Given the description of an element on the screen output the (x, y) to click on. 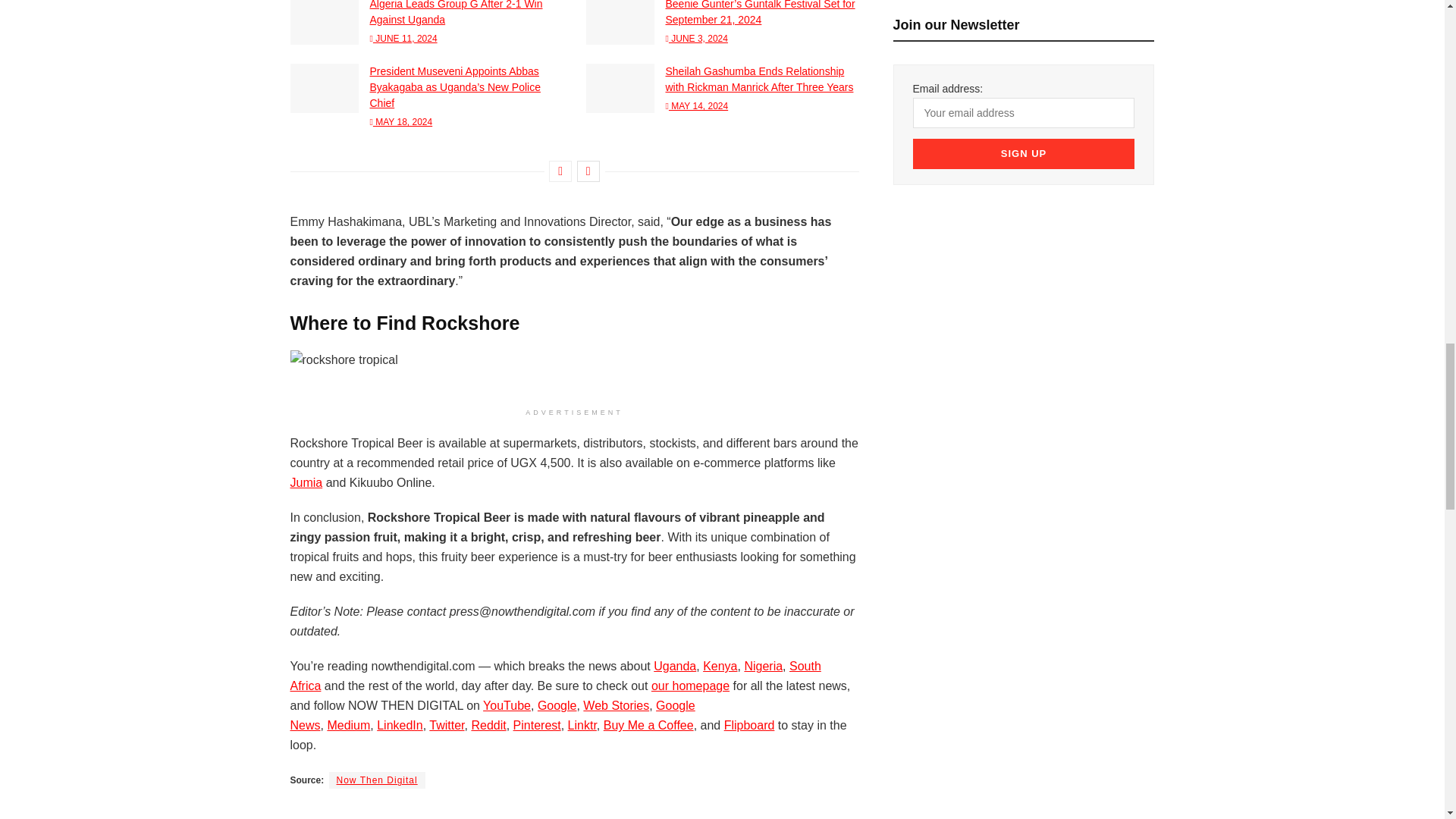
Next (587, 170)
Sign up (1023, 153)
Previous (560, 170)
